Given the description of an element on the screen output the (x, y) to click on. 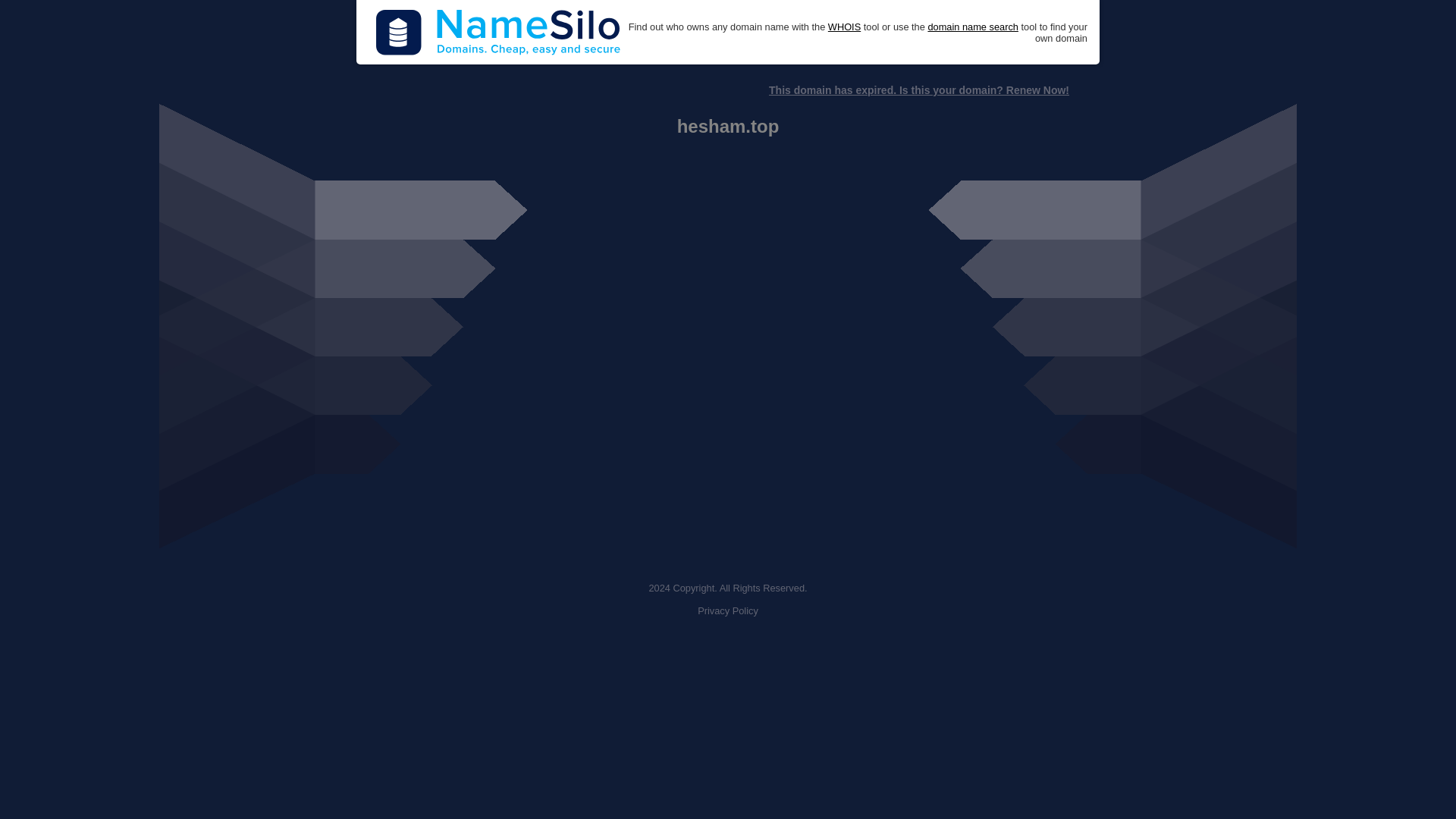
Privacy Policy (727, 610)
domain name search (972, 26)
WHOIS (844, 26)
This domain has expired. Is this your domain? Renew Now! (918, 90)
